Given the description of an element on the screen output the (x, y) to click on. 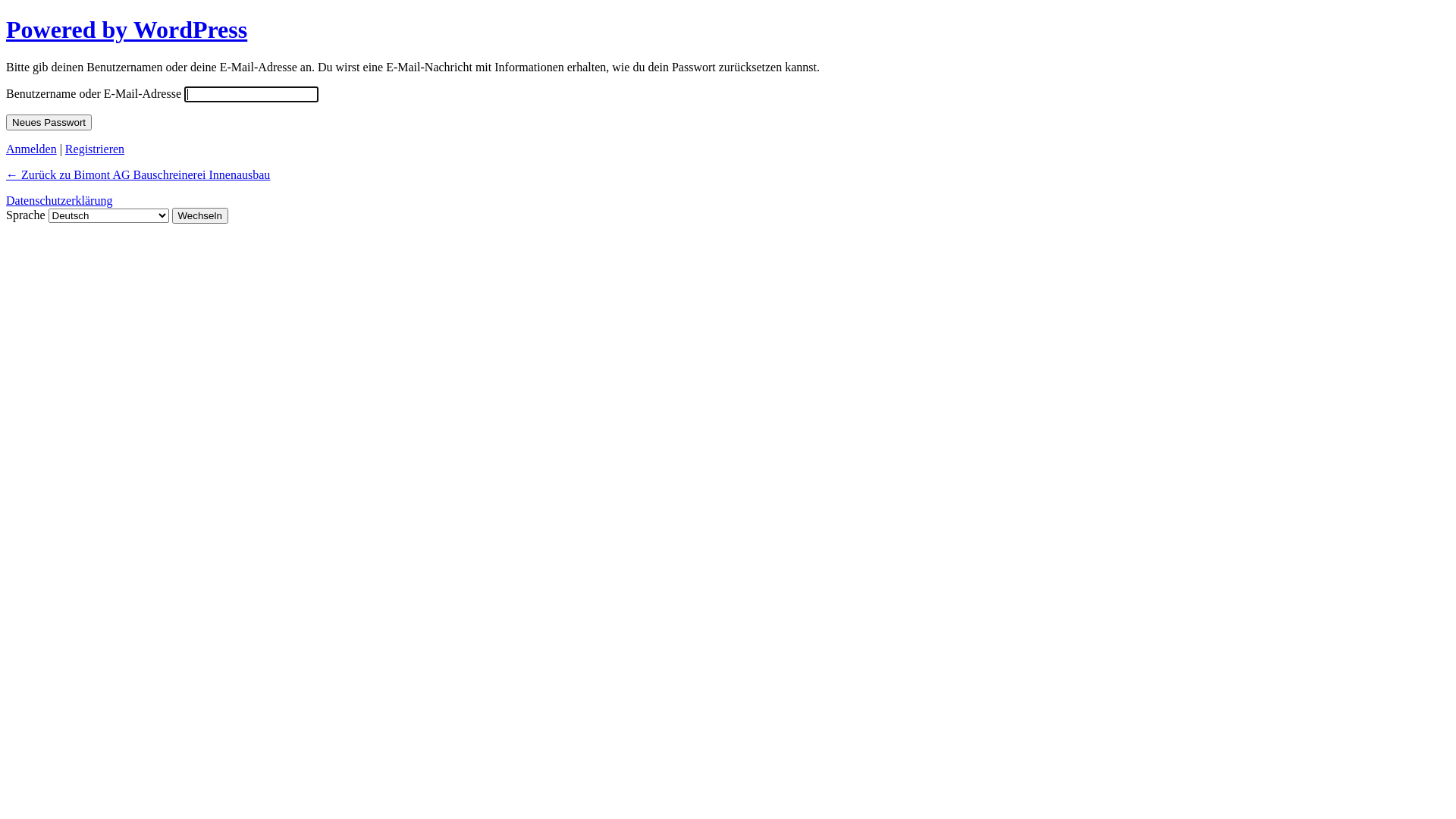
Anmelden Element type: text (31, 148)
Wechseln Element type: text (200, 215)
Neues Passwort Element type: text (48, 122)
Powered by WordPress Element type: text (126, 29)
Registrieren Element type: text (94, 148)
